Given the description of an element on the screen output the (x, y) to click on. 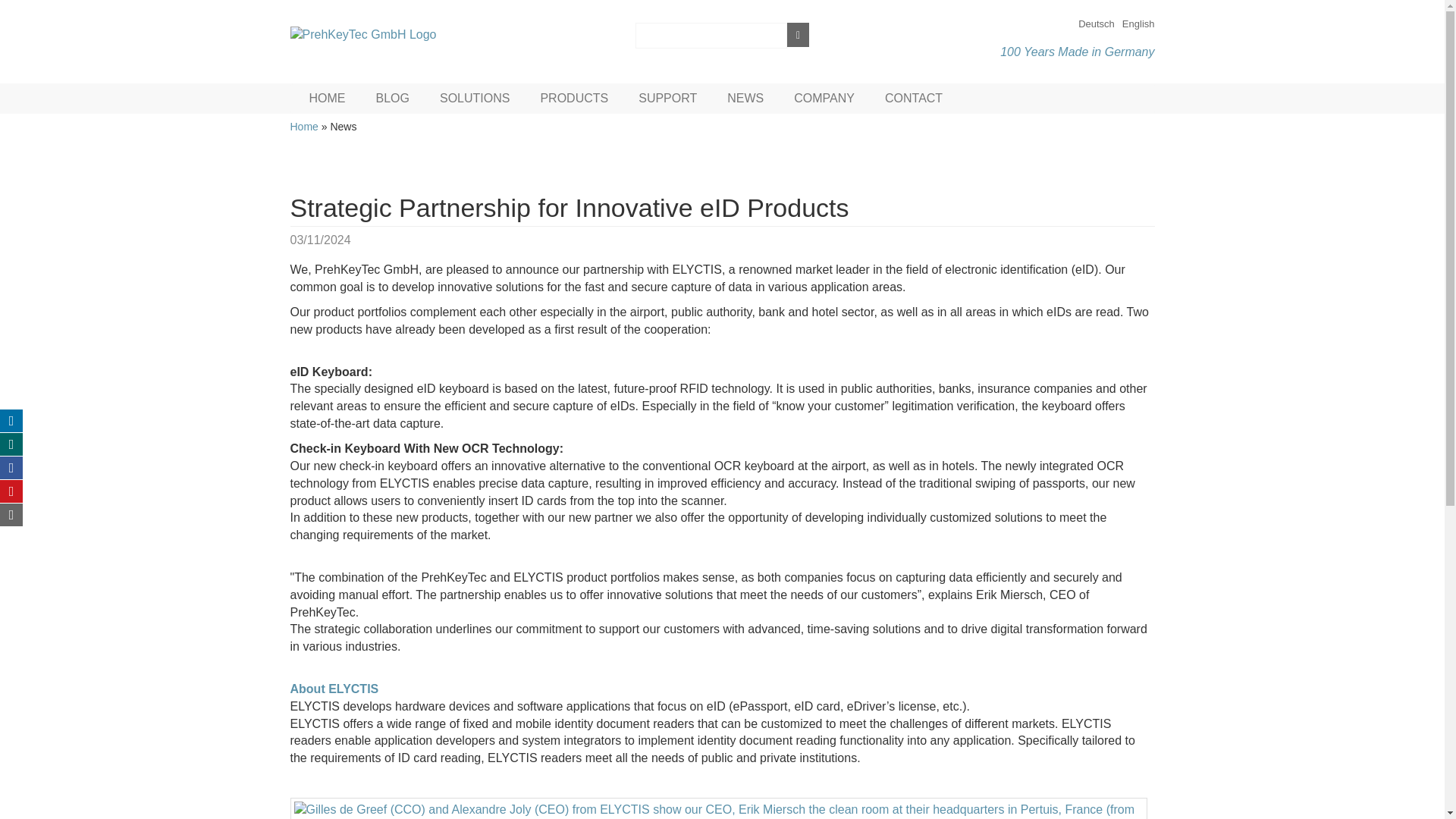
HOME (322, 96)
English (1138, 23)
Deutsch (1096, 23)
Solutions (470, 96)
Blog (388, 96)
BLOG (388, 96)
SOLUTIONS (470, 96)
PRODUCTS (570, 96)
